Given the description of an element on the screen output the (x, y) to click on. 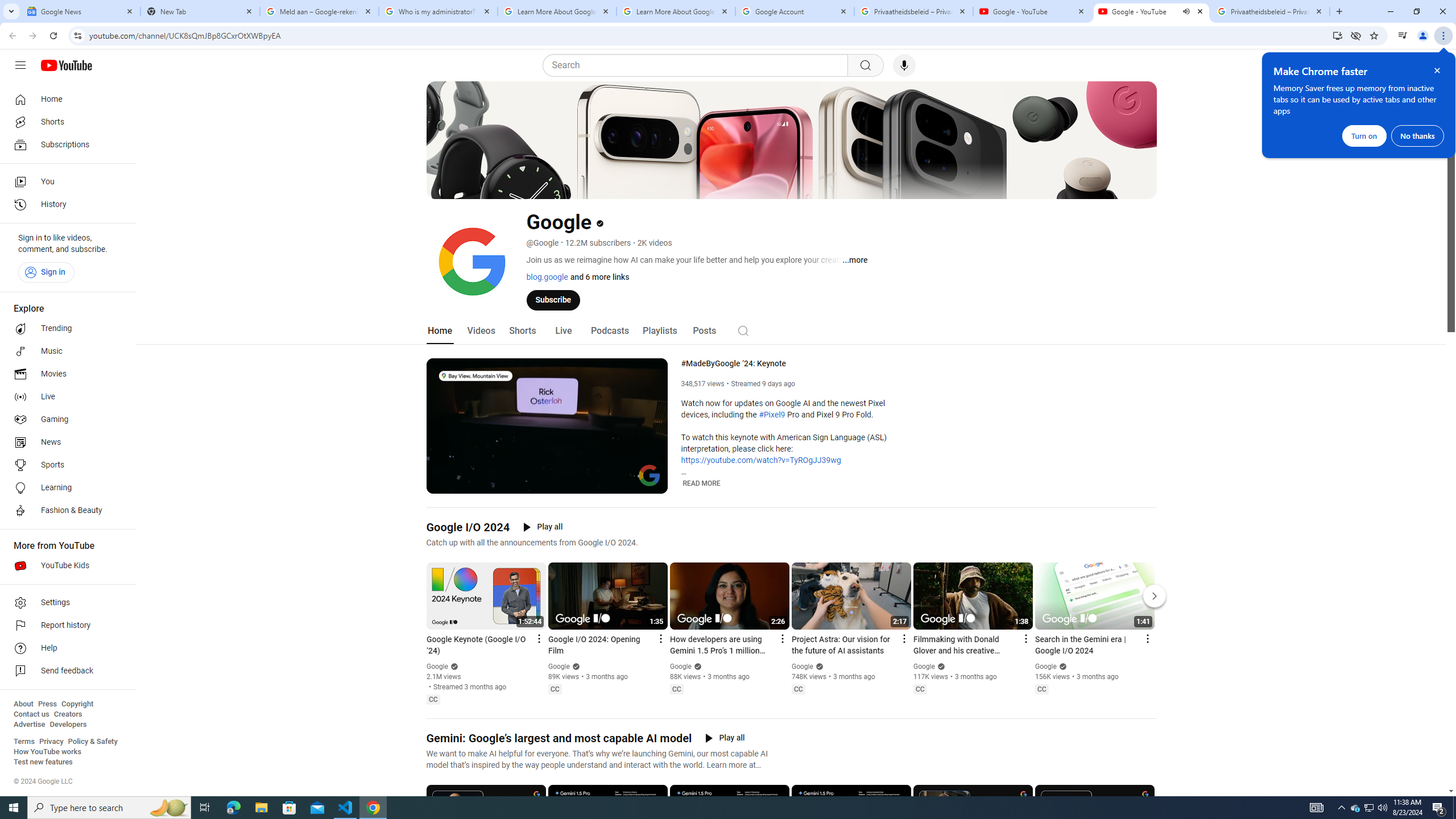
Developers (68, 724)
Fashion & Beauty (64, 510)
Podcasts (608, 330)
Playlists (659, 330)
READ MORE (701, 482)
MadeByGoogle '24: Intro (560, 483)
Google News (80, 11)
Channel watermark (649, 475)
Channel watermark (649, 475)
blog.google (546, 276)
